Given the description of an element on the screen output the (x, y) to click on. 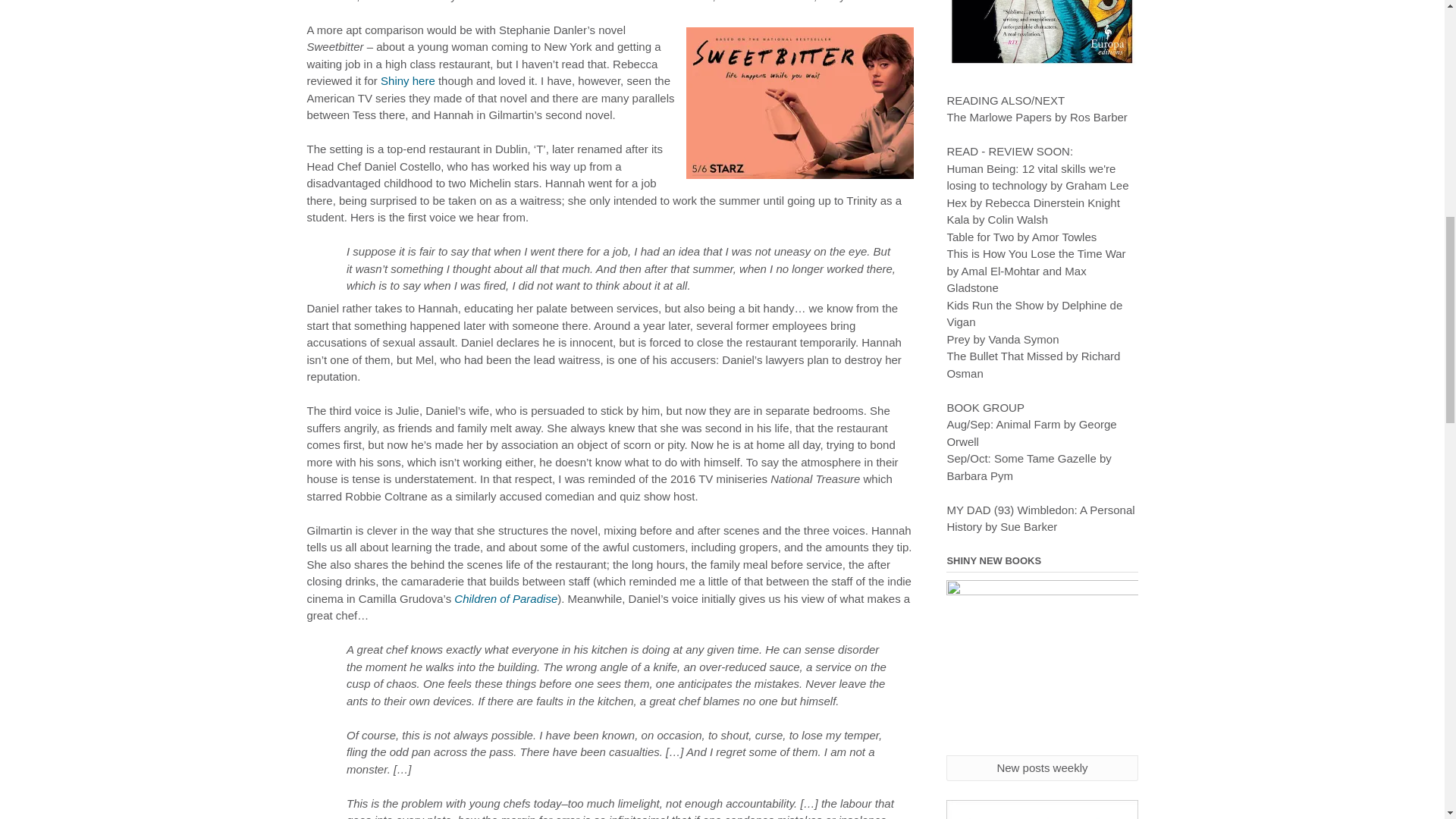
Shiny here (409, 80)
SHINY NEW BOOKS (1041, 667)
www.blackwells.co.uk (1041, 809)
Children of Paradise (505, 598)
